Given the description of an element on the screen output the (x, y) to click on. 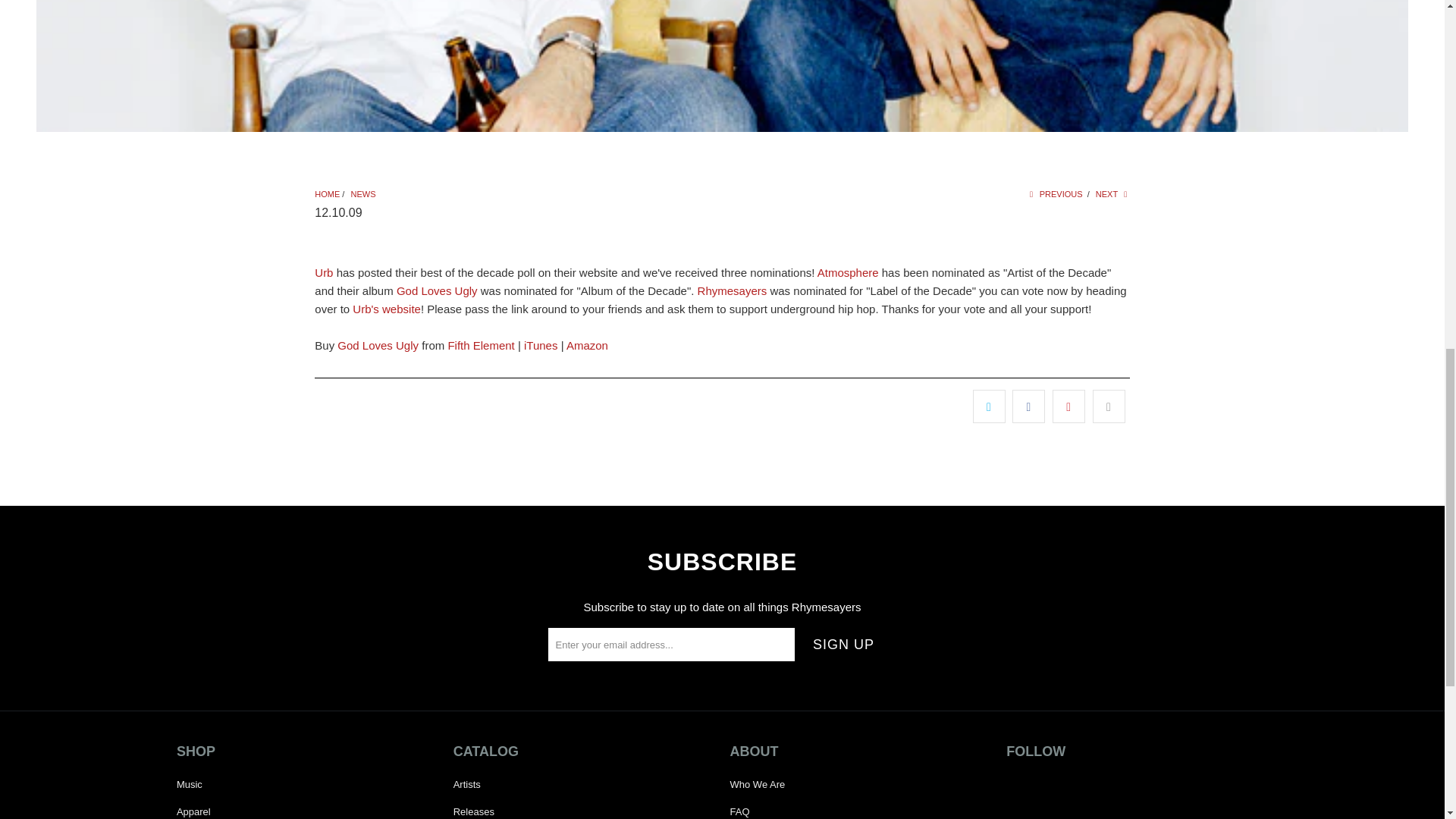
News (362, 194)
Share this on Pinterest (1068, 406)
Rhymesayers Entertainment  (326, 194)
Email this to a friend (1109, 406)
Sign Up (842, 644)
Share this on Facebook (1028, 406)
Share this on Twitter (989, 406)
